Given the description of an element on the screen output the (x, y) to click on. 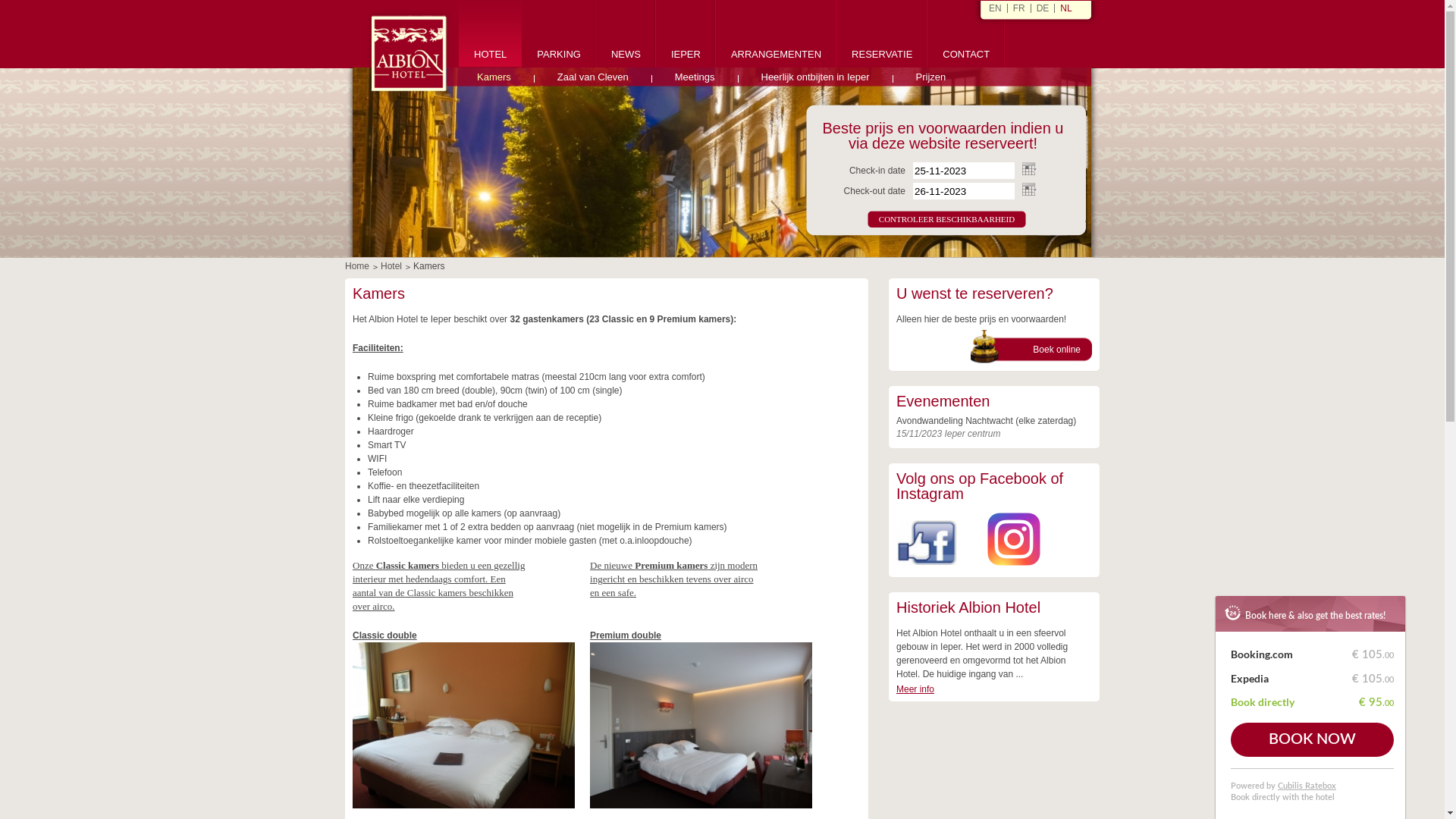
Evenementen Element type: text (942, 400)
Prijzen Element type: text (931, 74)
Hotel Element type: text (390, 265)
Home Element type: text (357, 265)
Kamers Element type: text (493, 74)
Avondwandeling Nachtwacht (elke zaterdag) Element type: text (986, 420)
Albion Hotel Ypres Element type: hover (409, 52)
Boek online Element type: text (1026, 346)
HOTEL Element type: text (489, 37)
Controleer beschikbaarheid Element type: text (946, 218)
FR Element type: text (1019, 8)
Zaal van Cleven Element type: text (592, 74)
EN Element type: text (994, 8)
DE Element type: text (1042, 8)
IEPER Element type: text (685, 37)
ARRANGEMENTEN Element type: text (775, 37)
Albion Hotel Element type: hover (721, 162)
CONTACT Element type: text (965, 37)
PARKING Element type: text (558, 37)
Tower View double Element type: hover (700, 725)
NEWS Element type: text (625, 37)
15/11/2023 Ieper centrum Element type: text (948, 433)
Heerlijk ontbijten in Ieper Element type: text (815, 74)
Meetings Element type: text (694, 74)
Meer info Element type: text (915, 689)
RESERVATIE Element type: text (881, 37)
